Given the description of an element on the screen output the (x, y) to click on. 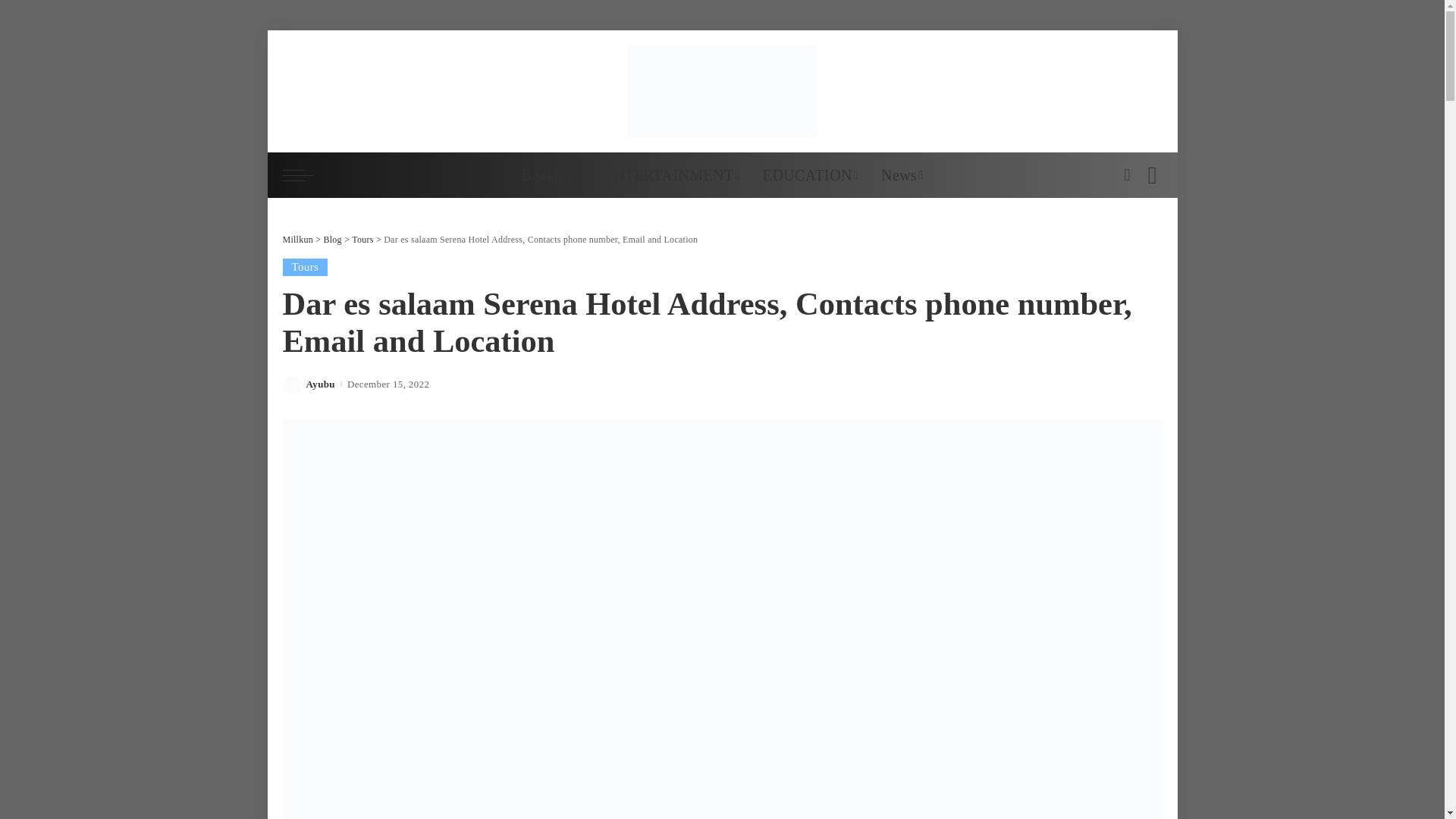
Facebook (1089, 91)
EDUCATION (810, 175)
Banking (550, 175)
ENTERTAINMENT (671, 175)
YouTube (1115, 91)
WhatsApp (1129, 91)
Millkun (721, 91)
0 (1151, 91)
Twitter (1102, 91)
Bookmarks (1151, 91)
